Given the description of an element on the screen output the (x, y) to click on. 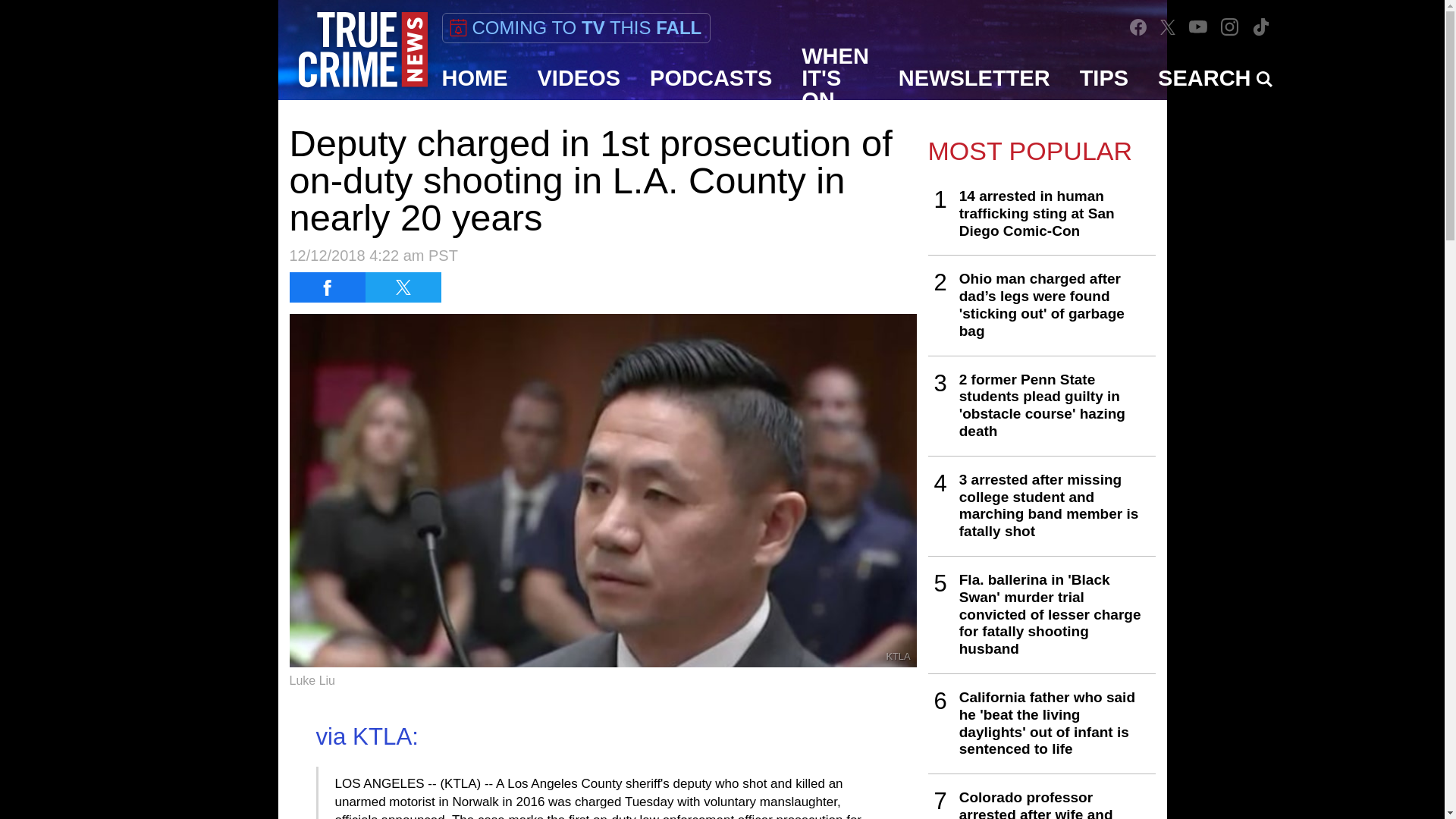
TIPS (1103, 77)
True Crime News (363, 49)
True Crime News (363, 49)
Twitter (1167, 27)
YouTube (1198, 26)
TikTok (1260, 26)
YouTube (1198, 26)
Facebook (1138, 26)
Instagram (1230, 27)
TikTok (1260, 27)
NEWSLETTER (974, 77)
HOME (475, 77)
COMING TO TV THIS FALL (575, 28)
Twitter (1167, 26)
Instagram (1229, 26)
